Given the description of an element on the screen output the (x, y) to click on. 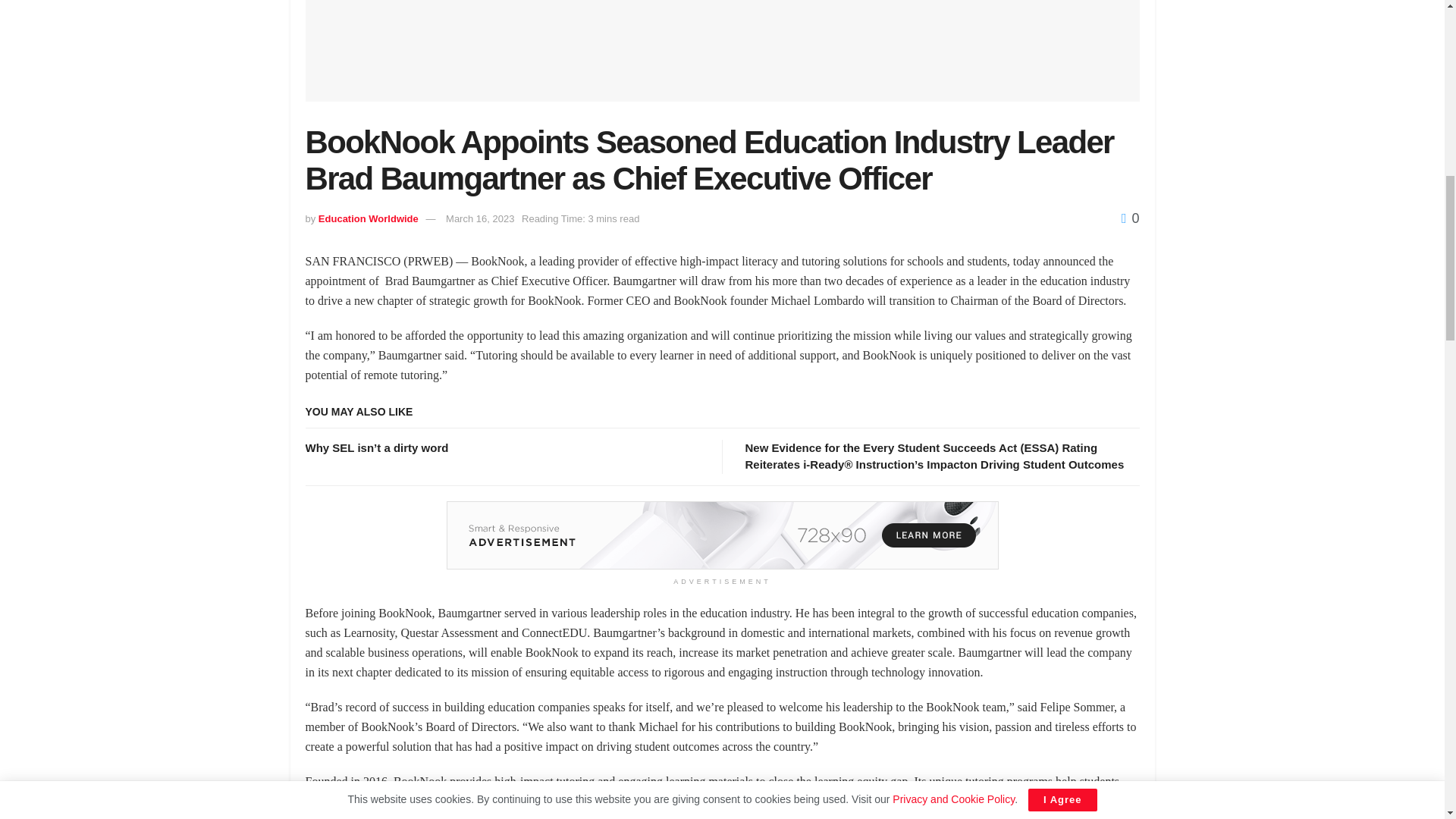
0 (1130, 218)
March 16, 2023 (479, 218)
Education Worldwide (368, 218)
